Given the description of an element on the screen output the (x, y) to click on. 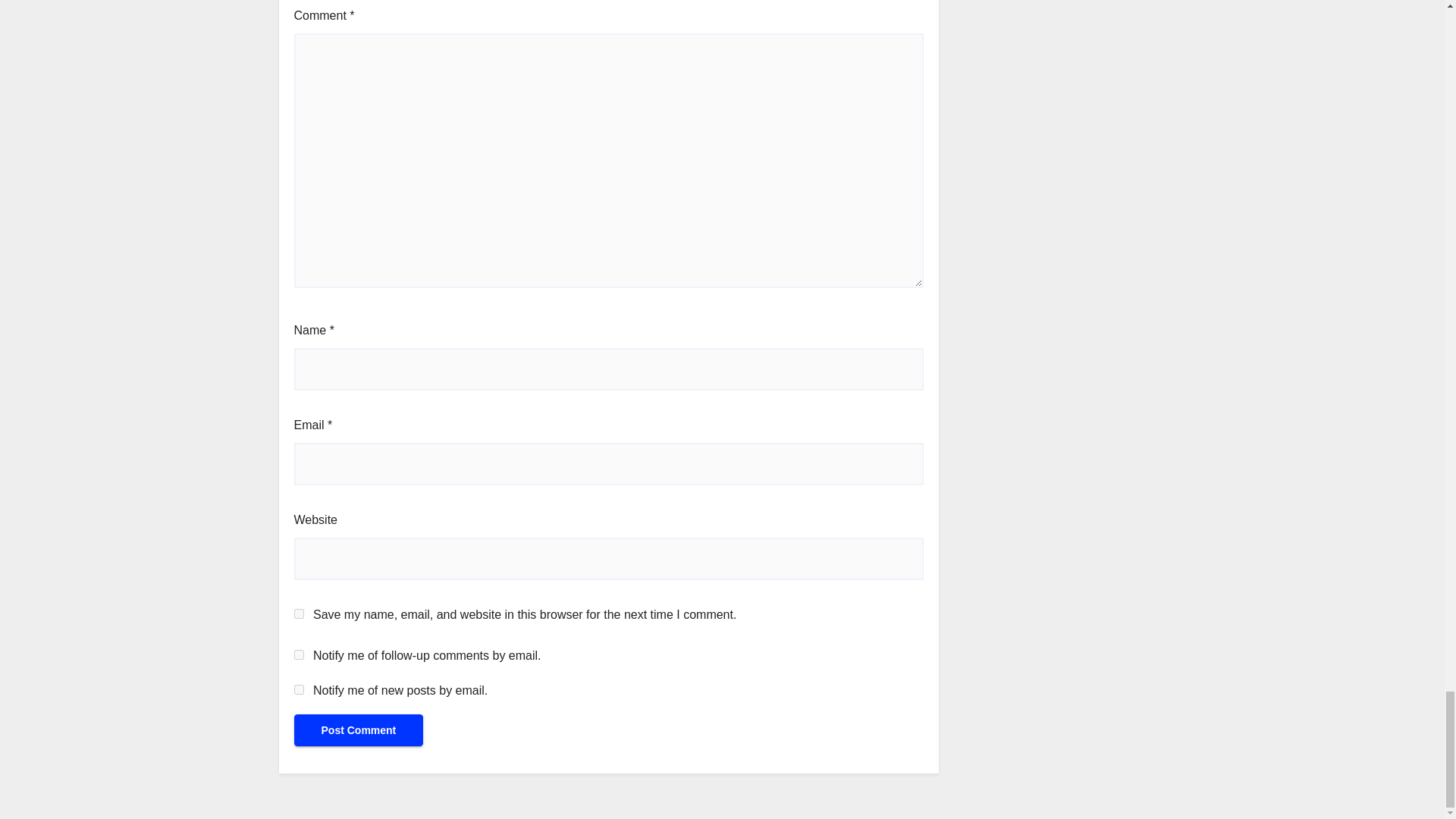
subscribe (299, 689)
Post Comment (358, 730)
Post Comment (358, 730)
subscribe (299, 655)
yes (299, 614)
